Given the description of an element on the screen output the (x, y) to click on. 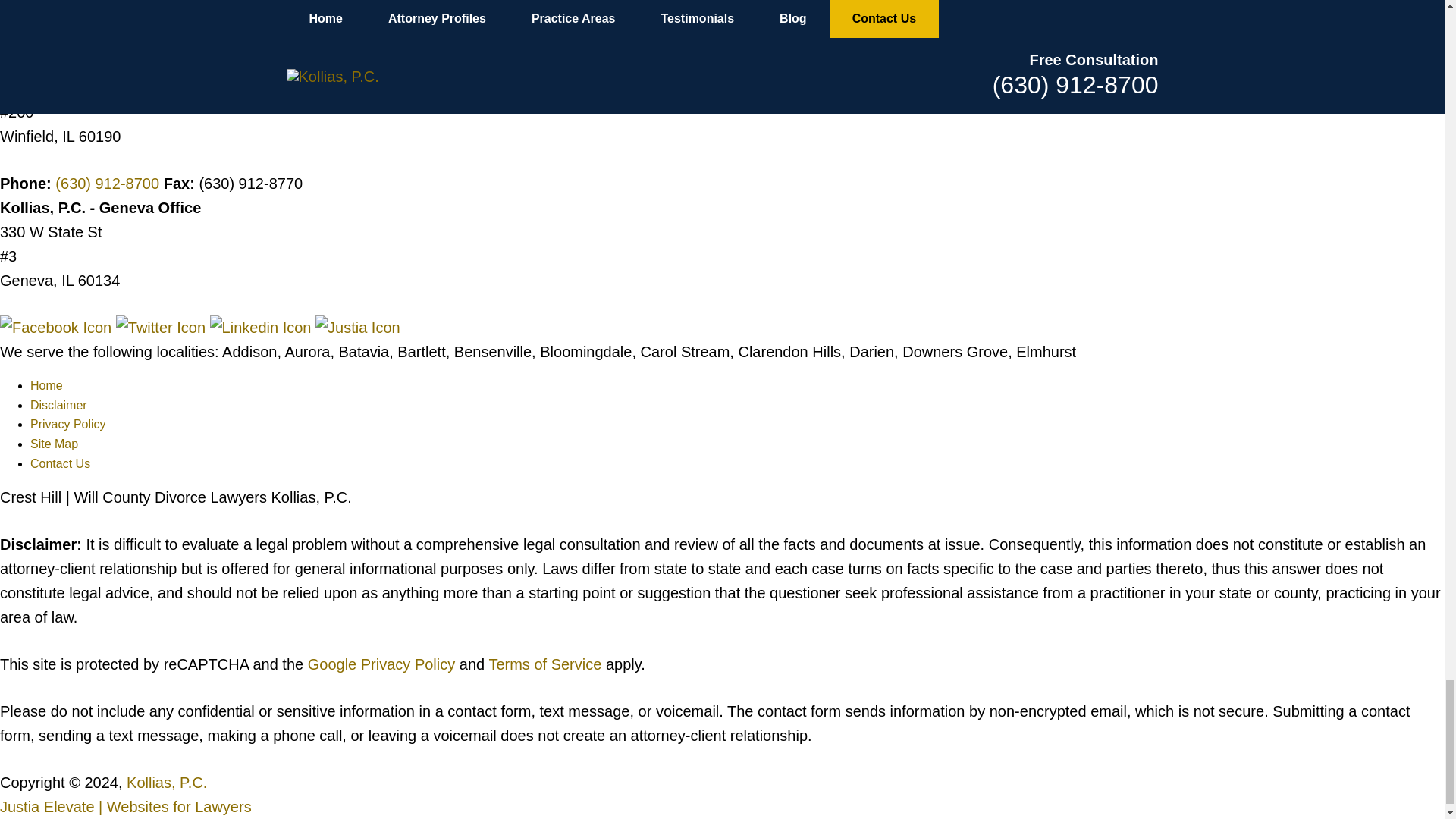
Twitter (162, 327)
Facebook (58, 327)
Linkedin (262, 327)
Justia (357, 327)
